Given the description of an element on the screen output the (x, y) to click on. 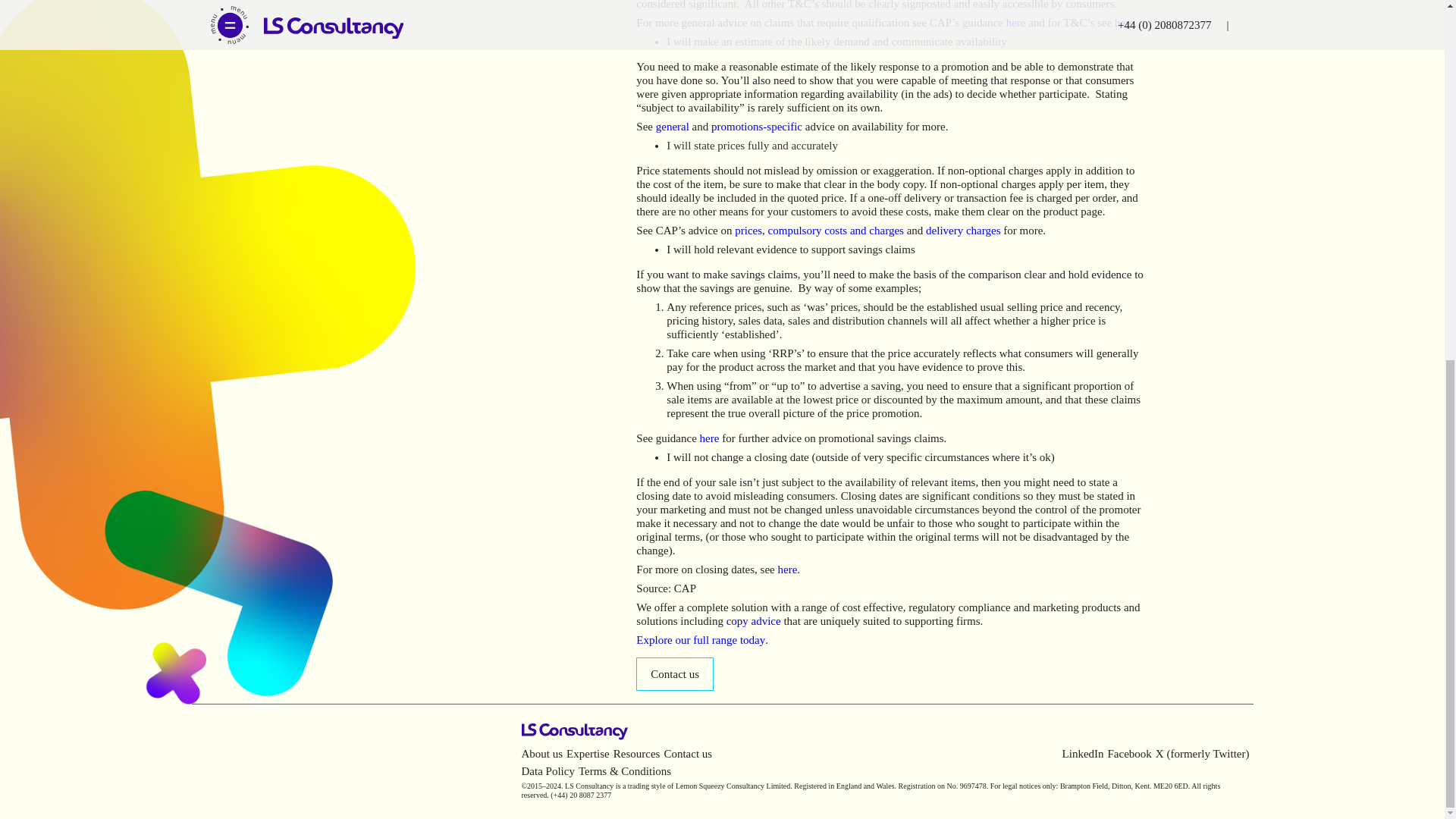
compulsory costs and charges (836, 230)
About us (542, 753)
here (787, 569)
LinkedIn (1082, 753)
Contact us (687, 753)
prices (748, 230)
copy advice (753, 621)
general (672, 126)
Facebook (1129, 753)
Explore our full range today (700, 639)
